Given the description of an element on the screen output the (x, y) to click on. 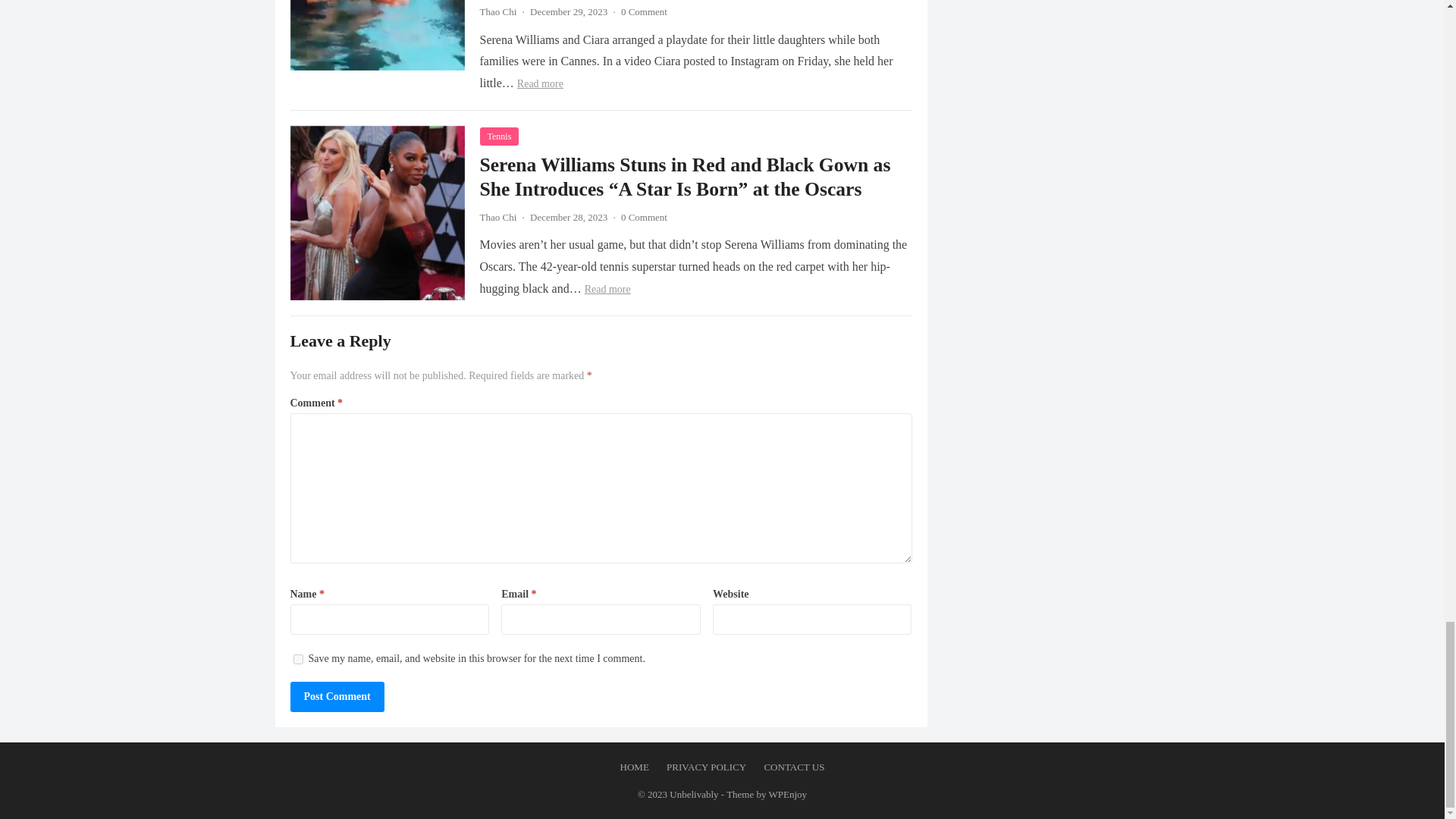
Posts by Thao Chi (497, 216)
yes (297, 659)
Posts by Thao Chi (497, 11)
Post Comment (336, 696)
